Given the description of an element on the screen output the (x, y) to click on. 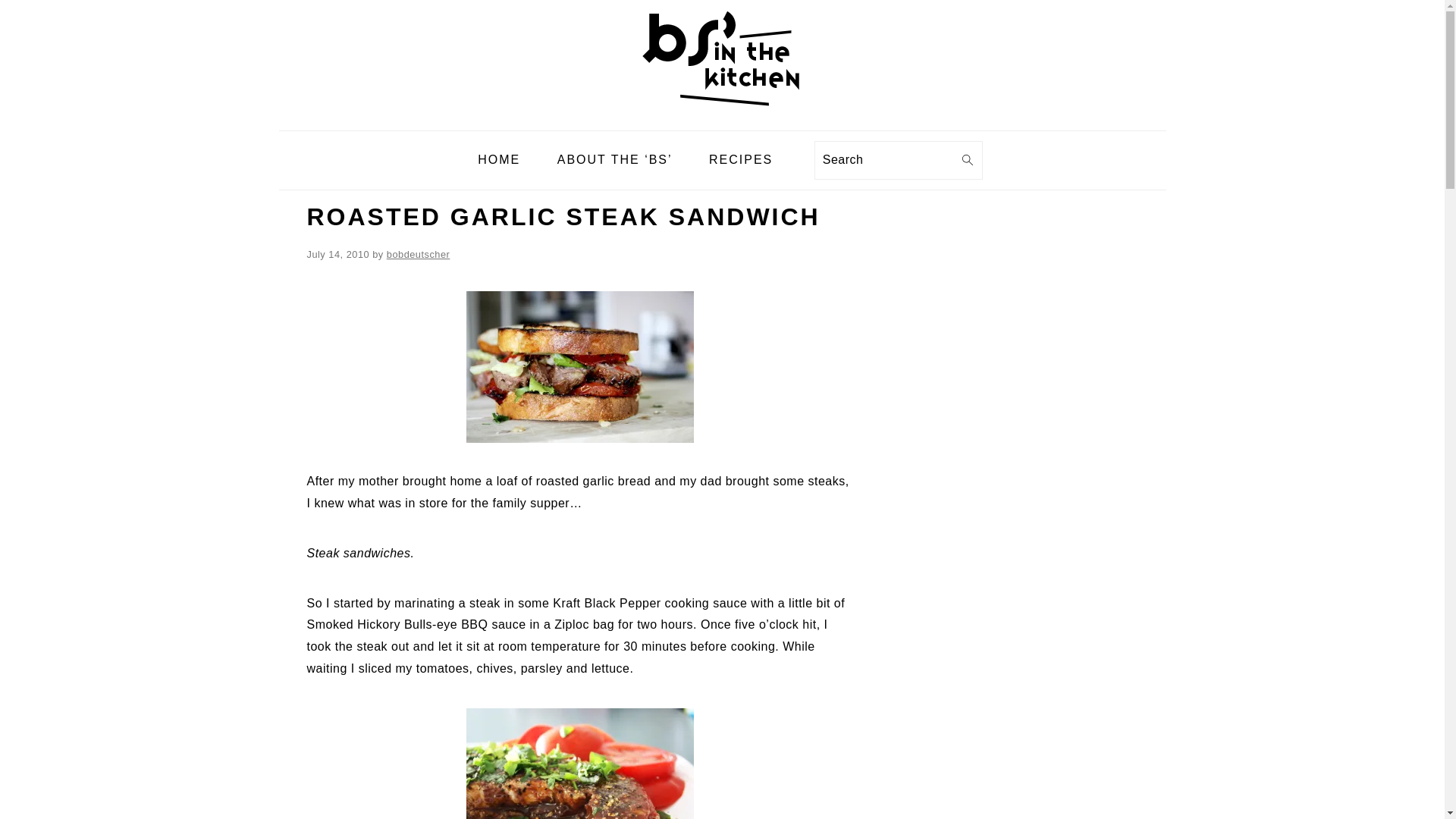
RECIPES (741, 160)
bobdeutscher (418, 254)
BS in the Kitchen (722, 54)
HOME (498, 160)
BS in the Kitchen (722, 118)
